Given the description of an element on the screen output the (x, y) to click on. 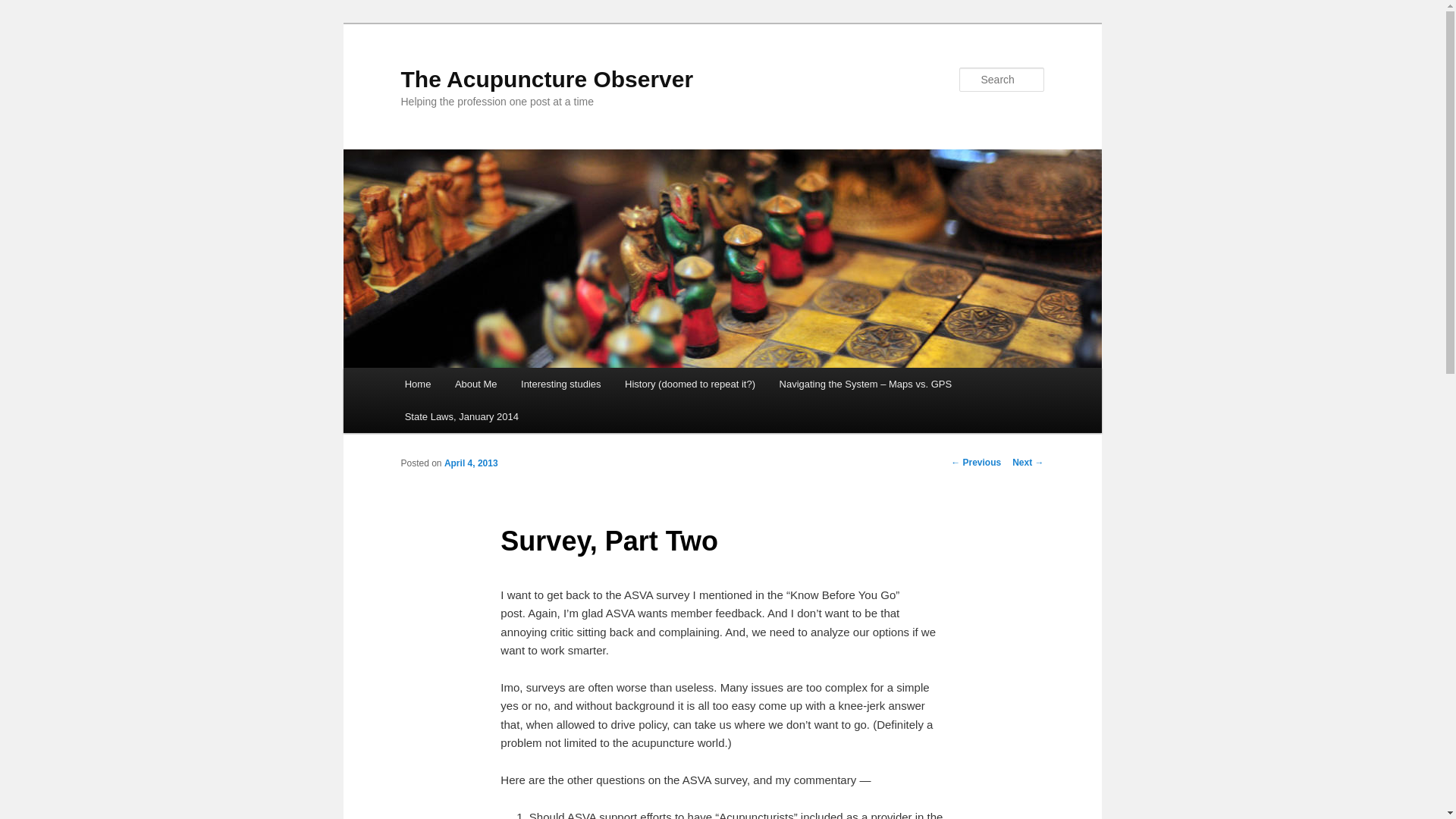
Home (417, 383)
April 4, 2013 (470, 462)
About Me (475, 383)
State Laws, January 2014 (462, 416)
Interesting studies (560, 383)
The Acupuncture Observer (546, 78)
Search (24, 8)
8:21 pm (470, 462)
